Given the description of an element on the screen output the (x, y) to click on. 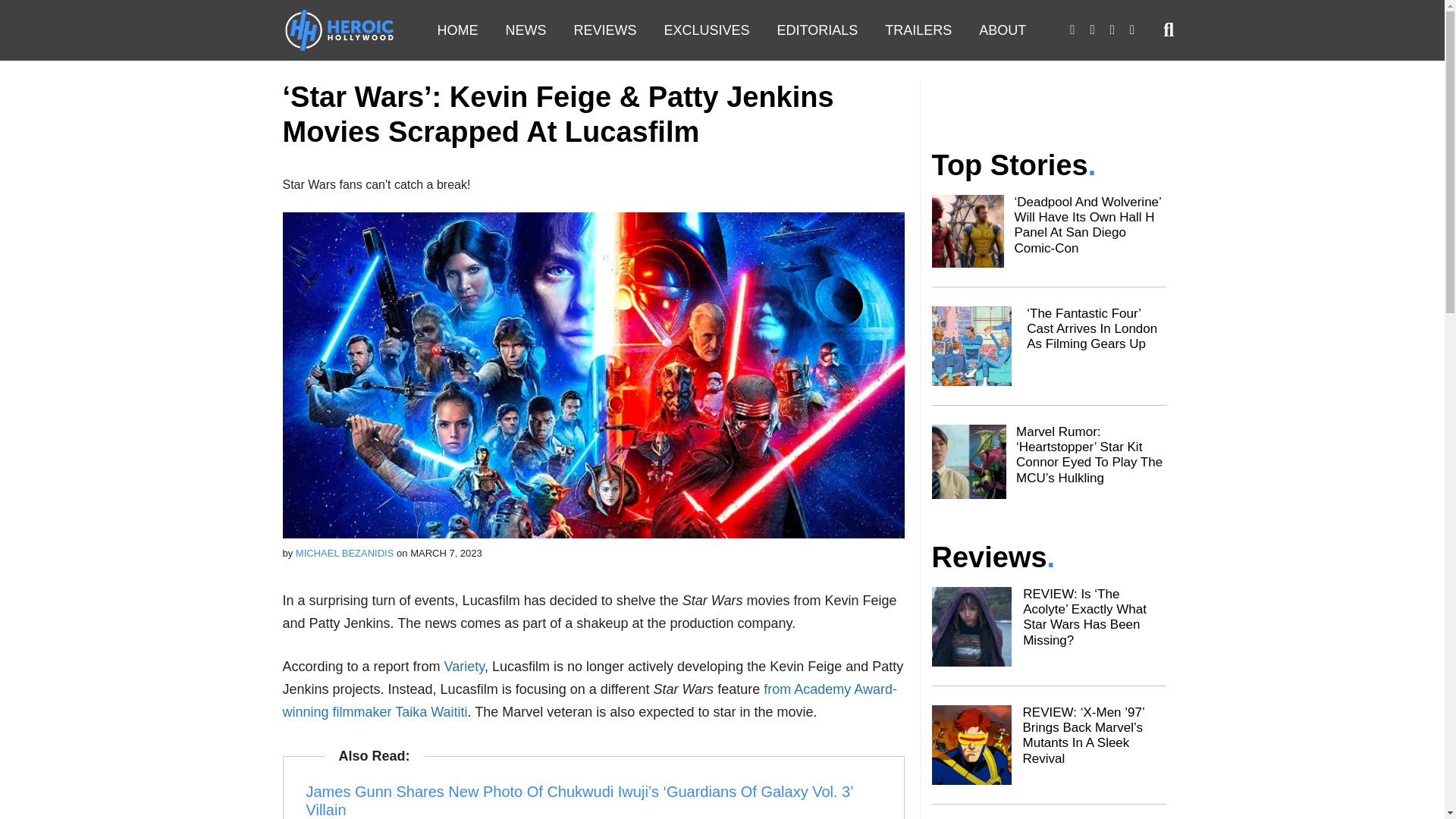
ABOUT (1002, 30)
EDITORIALS (817, 30)
NEWS (525, 30)
HOME (457, 30)
REVIEWS (604, 30)
TRAILERS (917, 30)
2023-03-07 (445, 552)
EXCLUSIVES (706, 30)
